Given the description of an element on the screen output the (x, y) to click on. 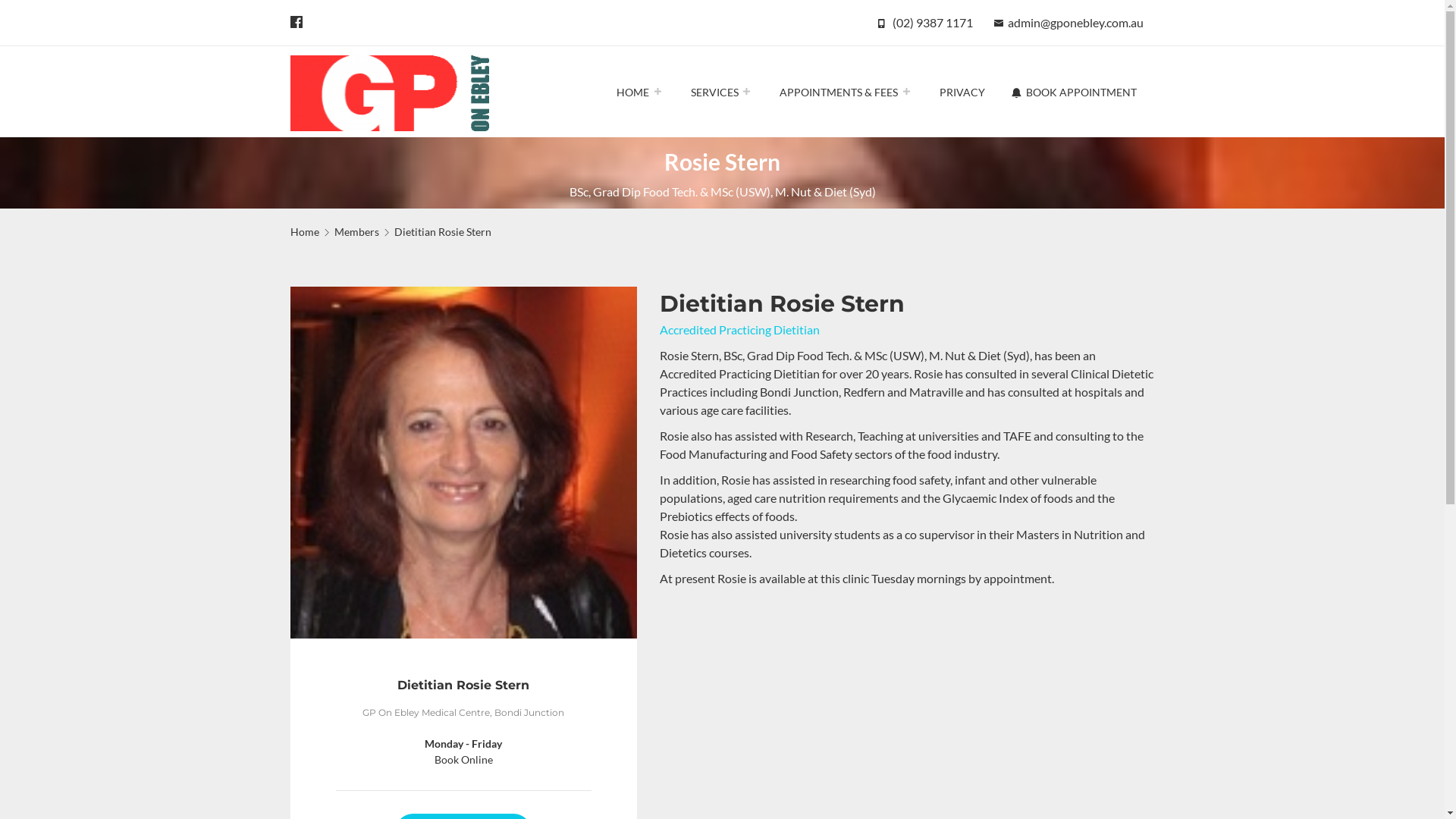
admin@gponebley.com.au Element type: text (1074, 23)
Members Element type: text (355, 231)
PRIVACY Element type: text (961, 91)
APPOINTMENTS & FEES Element type: text (845, 91)
BOOK APPOINTMENT Element type: text (1074, 91)
SERVICES Element type: text (720, 91)
Home Element type: text (303, 231)
HOME Element type: text (639, 91)
(02) 9387 1171 Element type: text (931, 23)
